Given the description of an element on the screen output the (x, y) to click on. 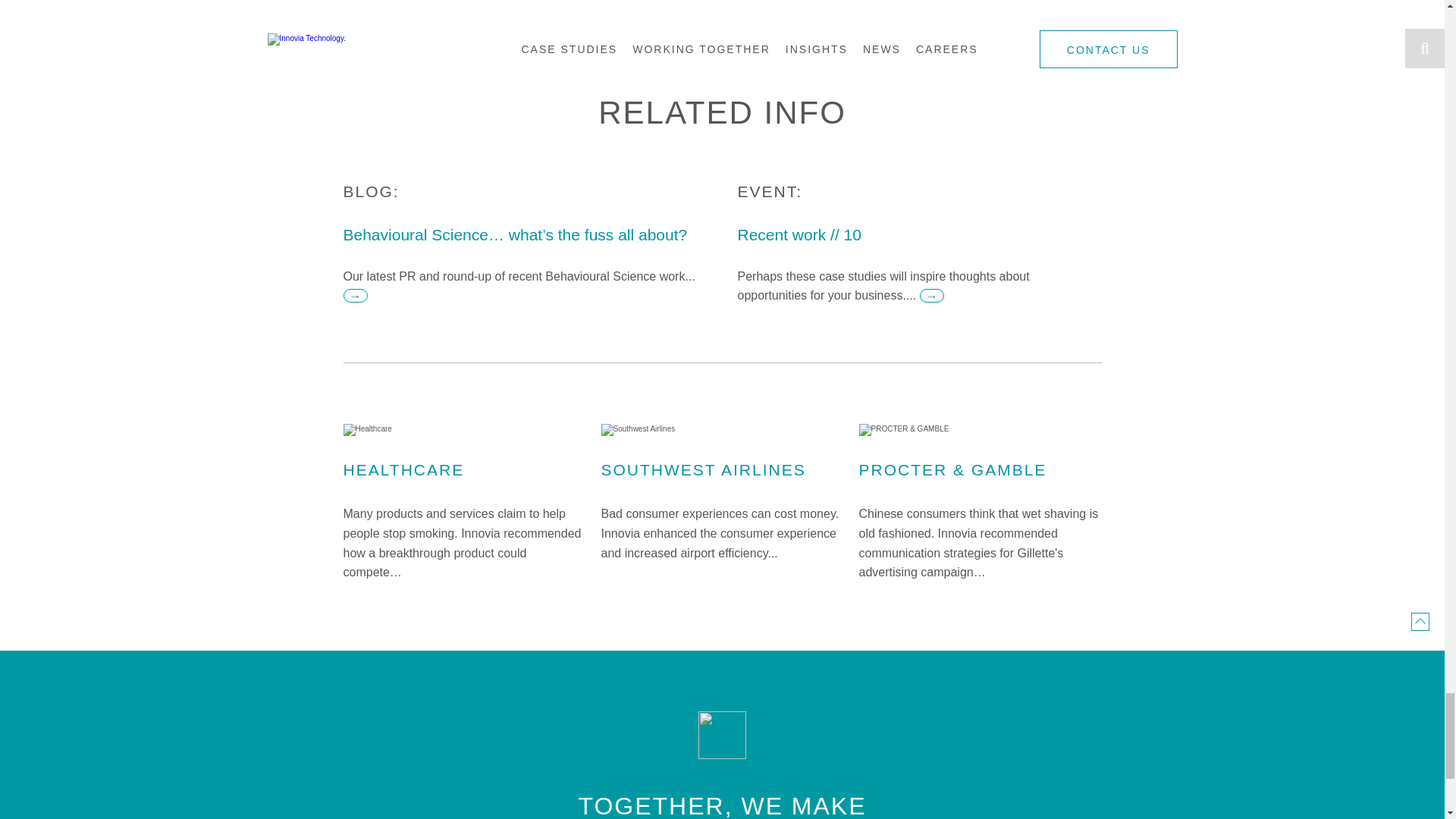
PREVIOUS BLOG (361, 22)
How to frame digital disruption? (361, 22)
